Given the description of an element on the screen output the (x, y) to click on. 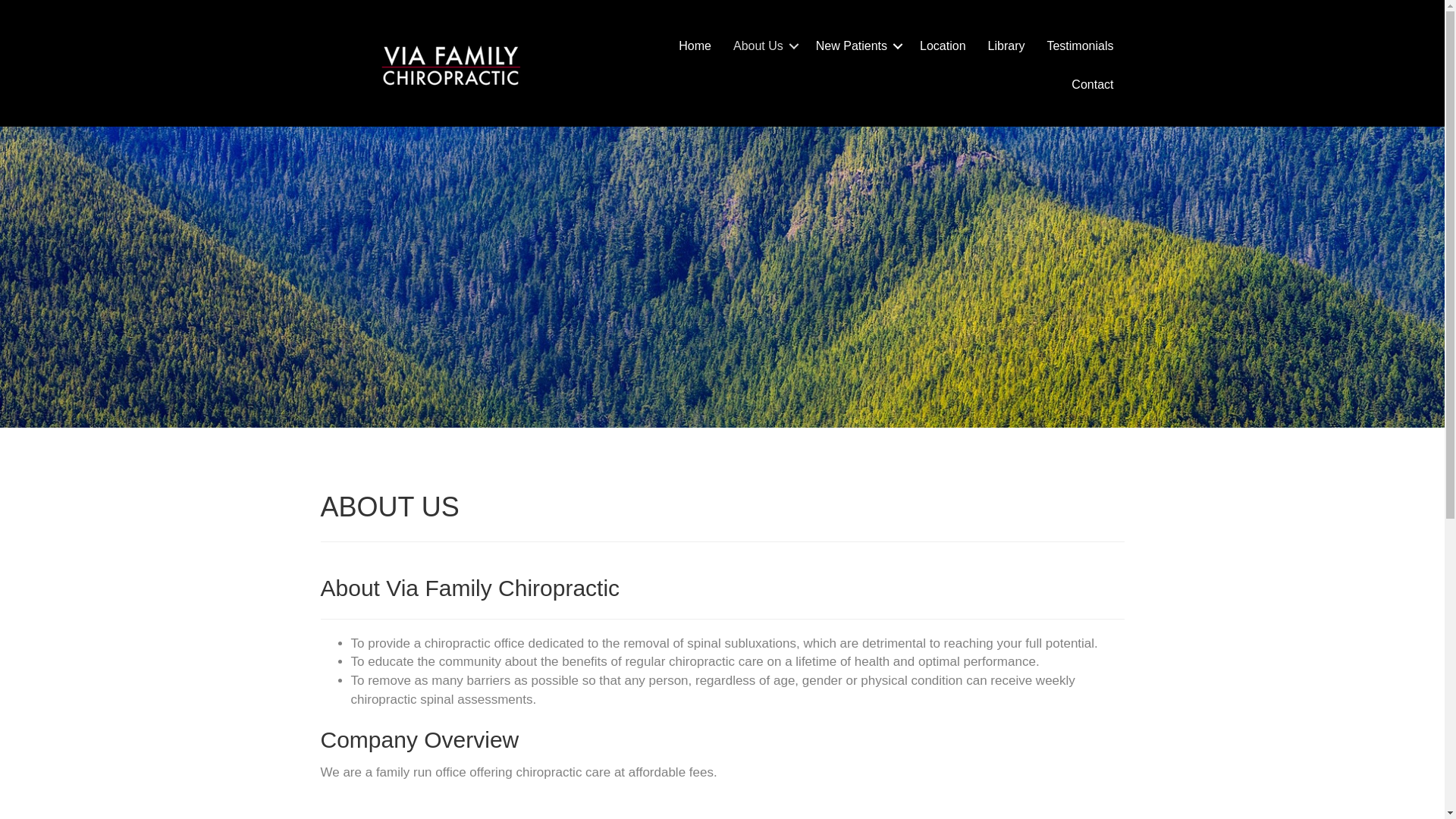
About Us (763, 45)
Testimonials (1079, 45)
New Patients (856, 45)
Library (1005, 45)
Home (695, 45)
Location (942, 45)
ViaLogoClearSized (451, 64)
Contact (1092, 84)
